Given the description of an element on the screen output the (x, y) to click on. 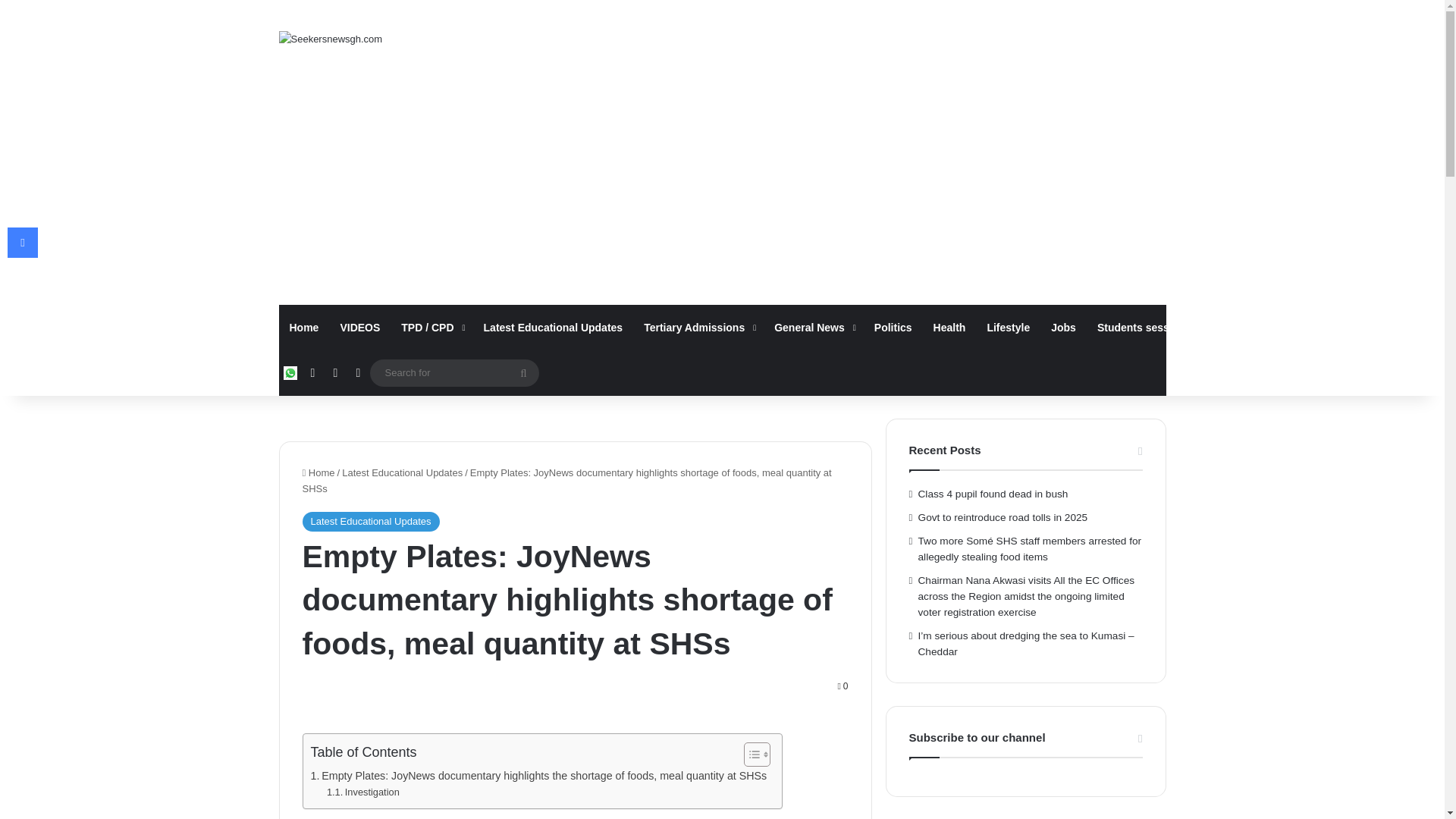
Search for (453, 372)
Jobs (1063, 327)
VIDEOS (359, 327)
Latest Educational Updates (553, 327)
Lifestyle (1008, 327)
Students session (1145, 327)
Politics (893, 327)
Seekersnewsgh.com (330, 38)
Home (304, 327)
Health (949, 327)
Home (317, 472)
Tertiary Admissions (697, 327)
General News (812, 327)
